Given the description of an element on the screen output the (x, y) to click on. 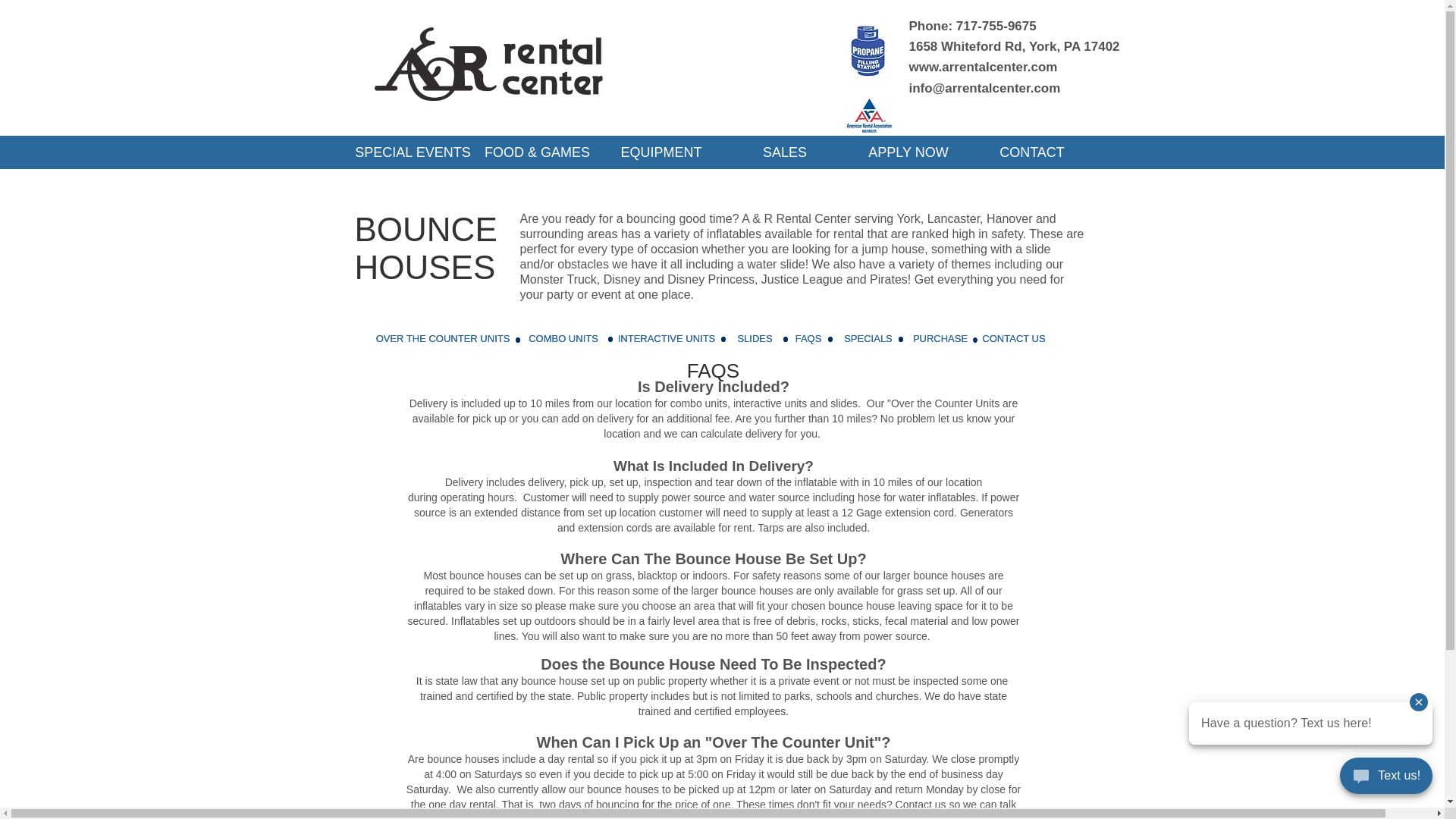
CONTACT (1032, 151)
Text us! (1385, 777)
www.arrentalcenter.com (982, 66)
Site Search (991, 121)
OVER THE COUNTER UNITS (443, 338)
APPLY NOW (907, 151)
